Given the description of an element on the screen output the (x, y) to click on. 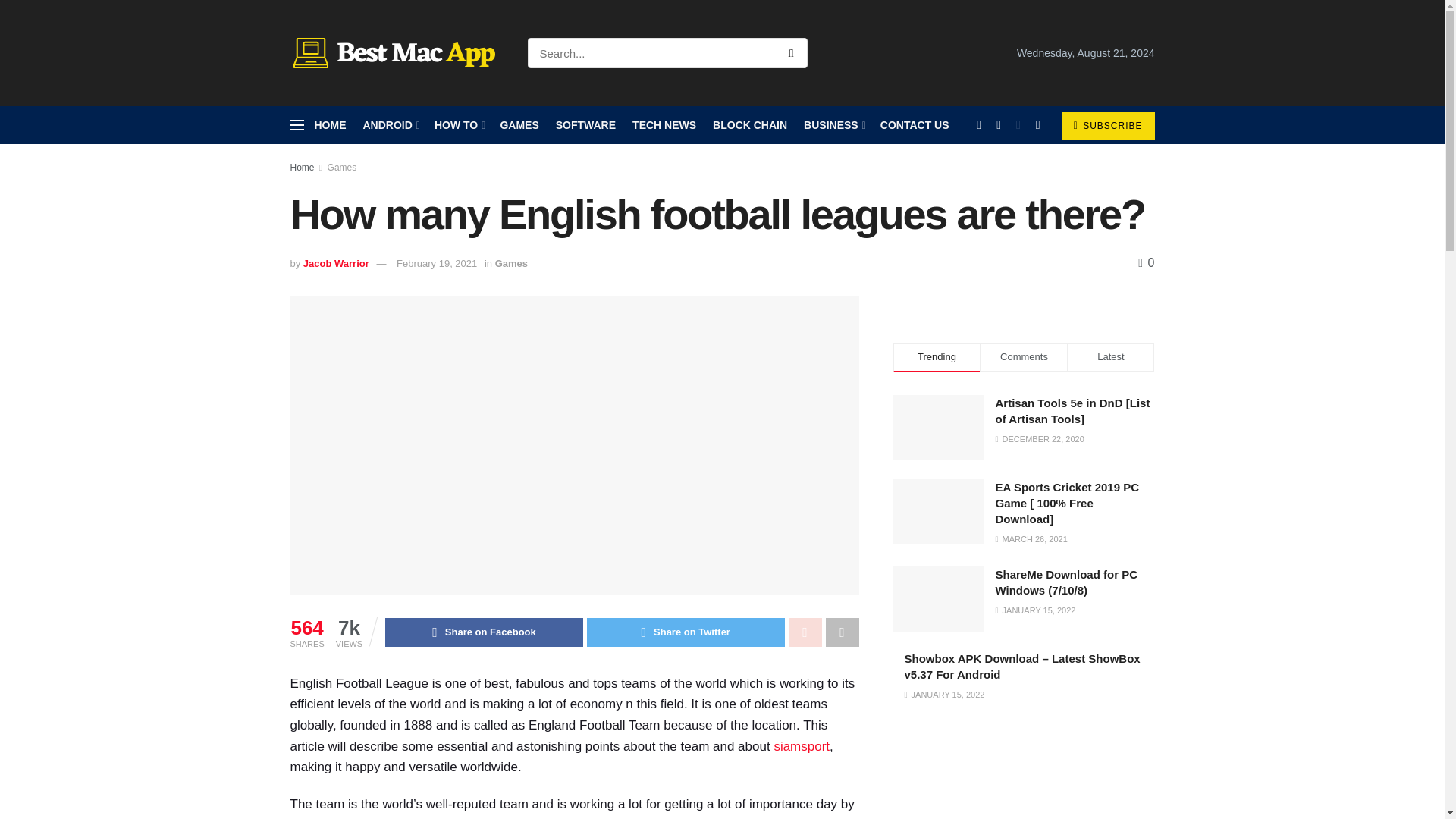
ANDROID (389, 125)
BUSINESS (833, 125)
SUBSCRIBE (1107, 125)
BLOCK CHAIN (750, 125)
TECH NEWS (663, 125)
HOW TO (458, 125)
SOFTWARE (585, 125)
GAMES (518, 125)
CONTACT US (914, 125)
